Given the description of an element on the screen output the (x, y) to click on. 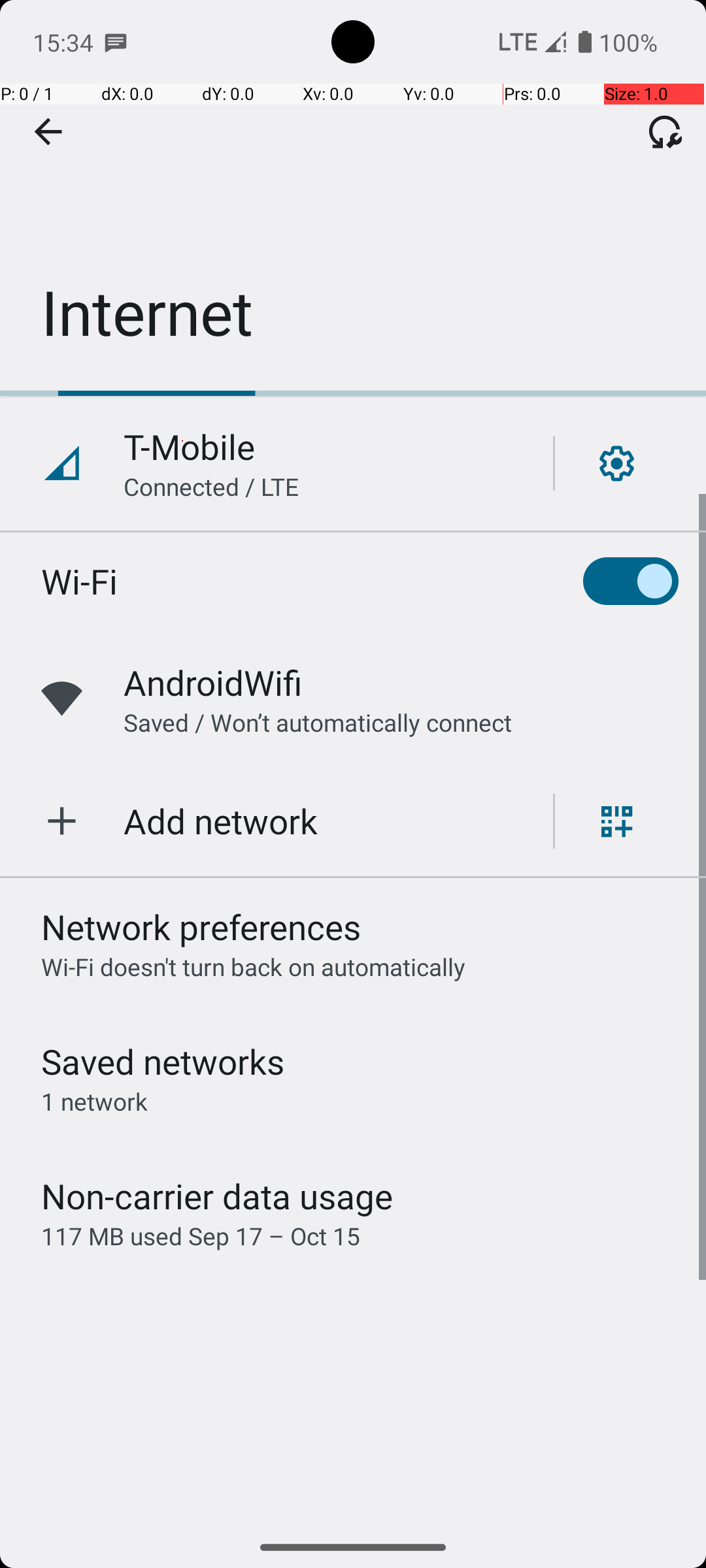
Fix connectivity Element type: android.widget.TextView (664, 131)
AndroidWifi,Saved / Won’t automatically connect,Wifi signal full.,Open network Element type: android.widget.LinearLayout (353, 698)
Connected / LTE Element type: android.widget.TextView (211, 486)
Wi-Fi Element type: android.widget.TextView (79, 580)
AndroidWifi Element type: android.widget.TextView (212, 682)
Saved / Won’t automatically connect Element type: android.widget.TextView (317, 721)
Add network Element type: android.widget.TextView (220, 820)
Scan QR code Element type: android.widget.ImageButton (616, 821)
Network preferences Element type: android.widget.TextView (201, 926)
Wi‑Fi doesn't turn back on automatically Element type: android.widget.TextView (253, 966)
Saved networks Element type: android.widget.TextView (163, 1061)
1 network Element type: android.widget.TextView (94, 1100)
Non-carrier data usage Element type: android.widget.TextView (216, 1195)
117 MB used Sep 17 – Oct 15 Element type: android.widget.TextView (200, 1235)
